Given the description of an element on the screen output the (x, y) to click on. 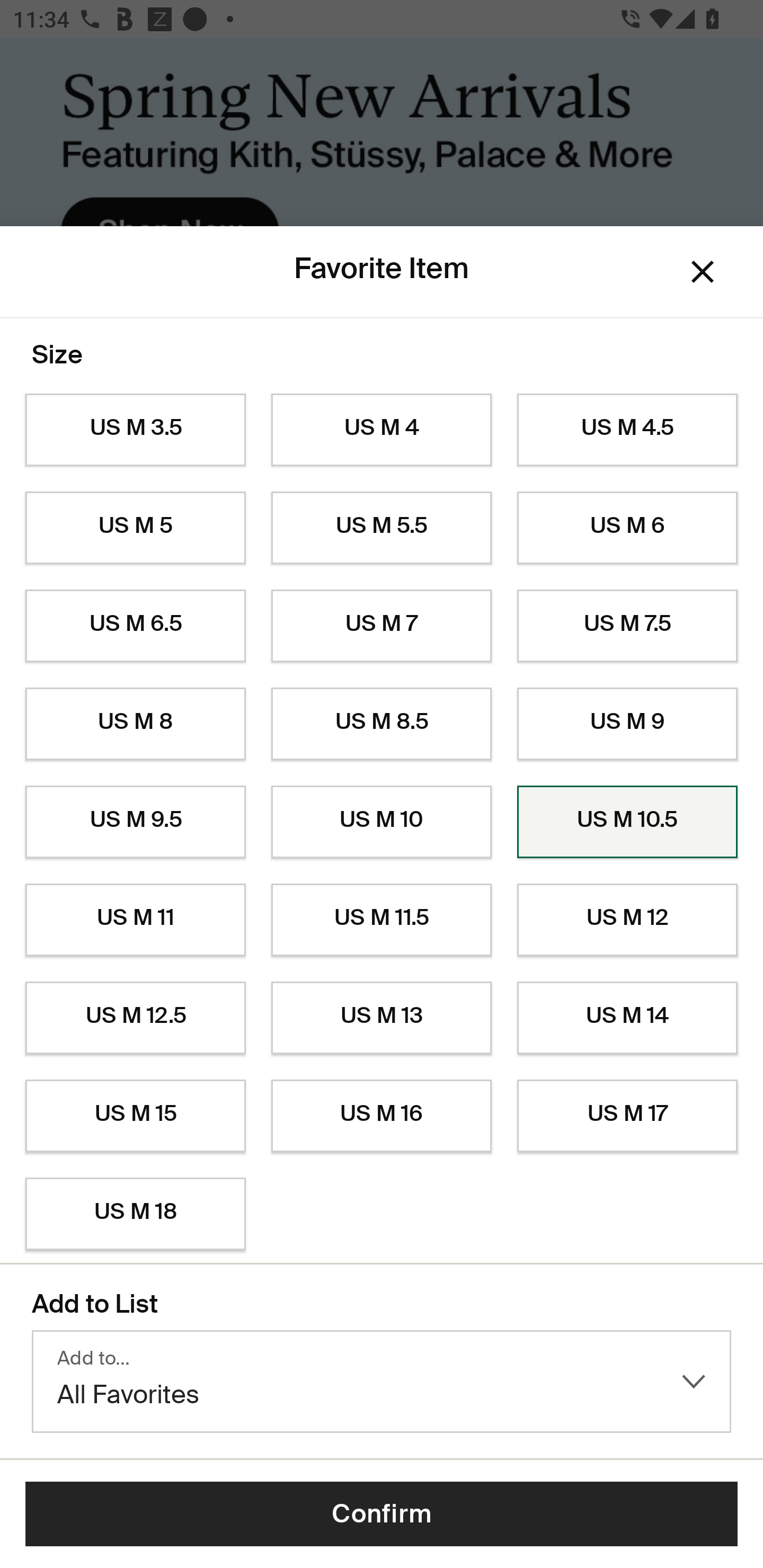
Dismiss (702, 271)
US M 3.5 (135, 430)
US M 4 (381, 430)
US M 4.5 (627, 430)
US M 5 (135, 527)
US M 5.5 (381, 527)
US M 6 (627, 527)
US M 6.5 (135, 626)
US M 7 (381, 626)
US M 7.5 (627, 626)
US M 8 (135, 724)
US M 8.5 (381, 724)
US M 9 (627, 724)
US M 9.5 (135, 822)
US M 10 (381, 822)
US M 10.5 (627, 822)
US M 11 (135, 919)
US M 11.5 (381, 919)
US M 12 (627, 919)
US M 12.5 (135, 1018)
US M 13 (381, 1018)
US M 14 (627, 1018)
US M 15 (135, 1116)
US M 16 (381, 1116)
US M 17 (627, 1116)
US M 18 (135, 1214)
Add to… All Favorites (381, 1381)
Confirm (381, 1513)
